Given the description of an element on the screen output the (x, y) to click on. 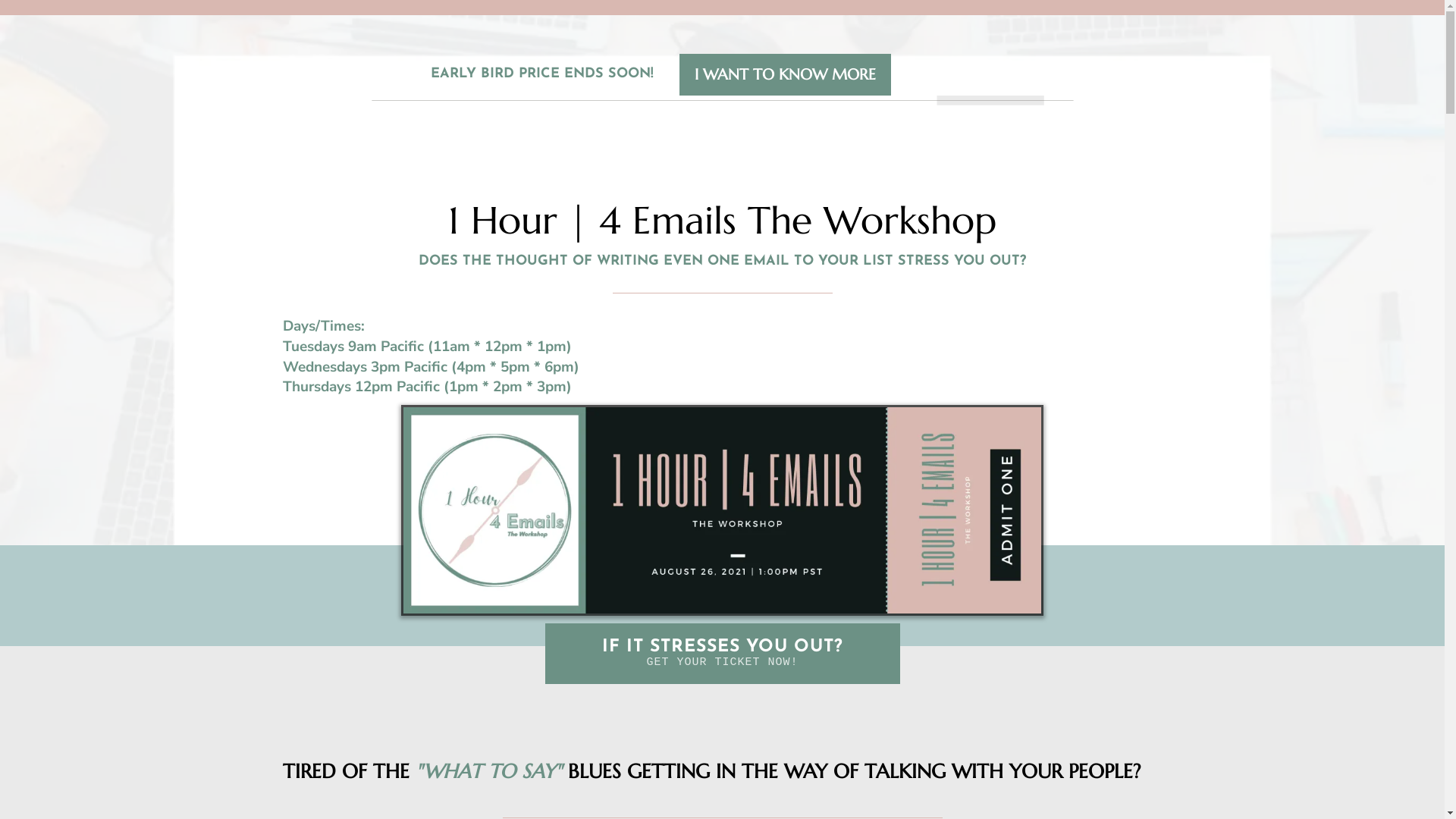
I WANT TO KNOW MORE Element type: text (785, 73)
IF IT STRESSES YOU OUT?
GET YOUR TICKET NOW! Element type: text (721, 653)
